Given the description of an element on the screen output the (x, y) to click on. 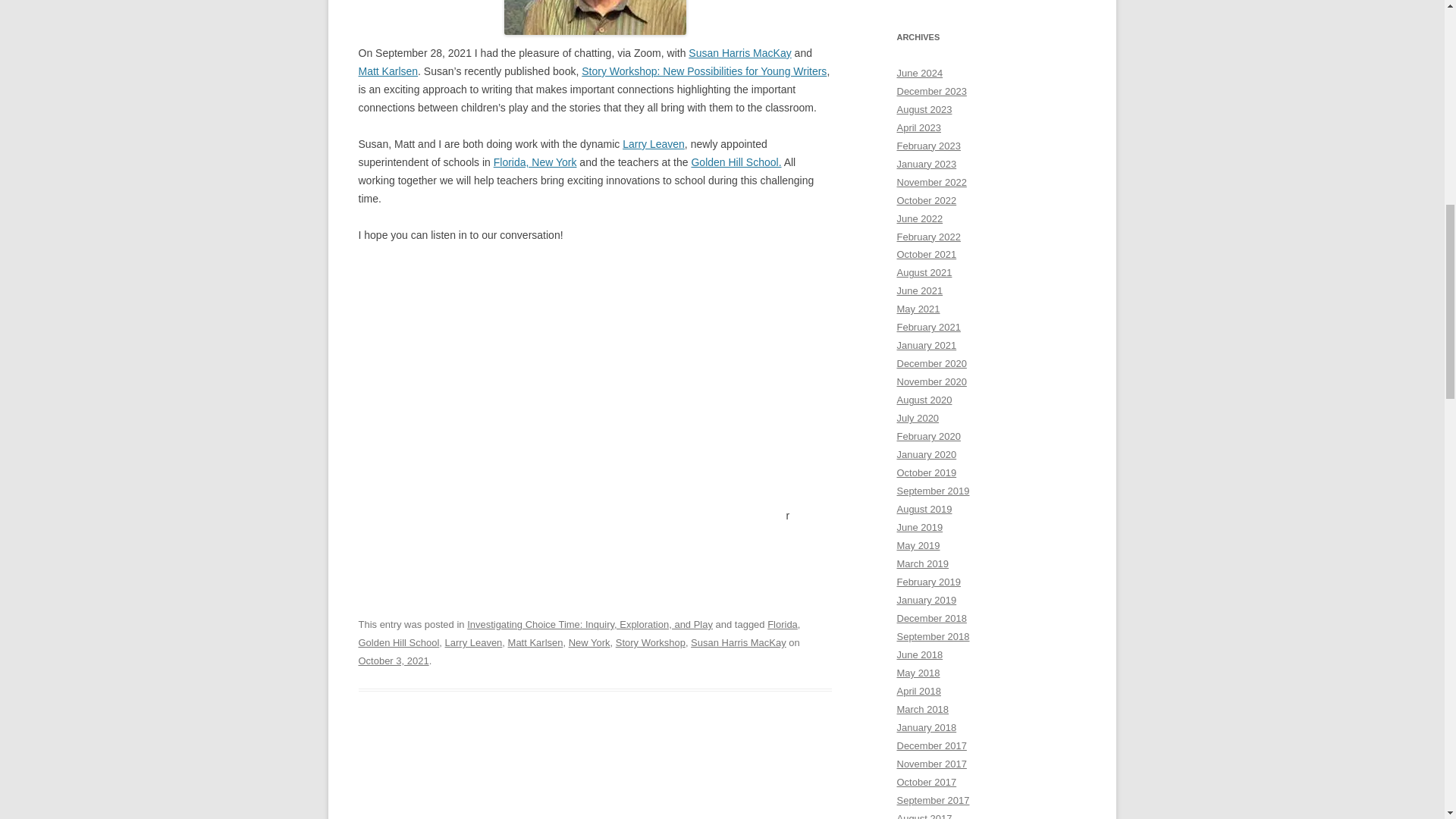
June 2024 (919, 72)
Florida, New York (534, 162)
Story Workshop: New Possibilities for Young Writers (703, 70)
Golden Hill School. (735, 162)
August 2023 (924, 109)
Florida (782, 624)
Susan Harris MacKay (738, 642)
Matt Karlsen (535, 642)
Golden Hill School (398, 642)
December 2023 (931, 91)
